Given the description of an element on the screen output the (x, y) to click on. 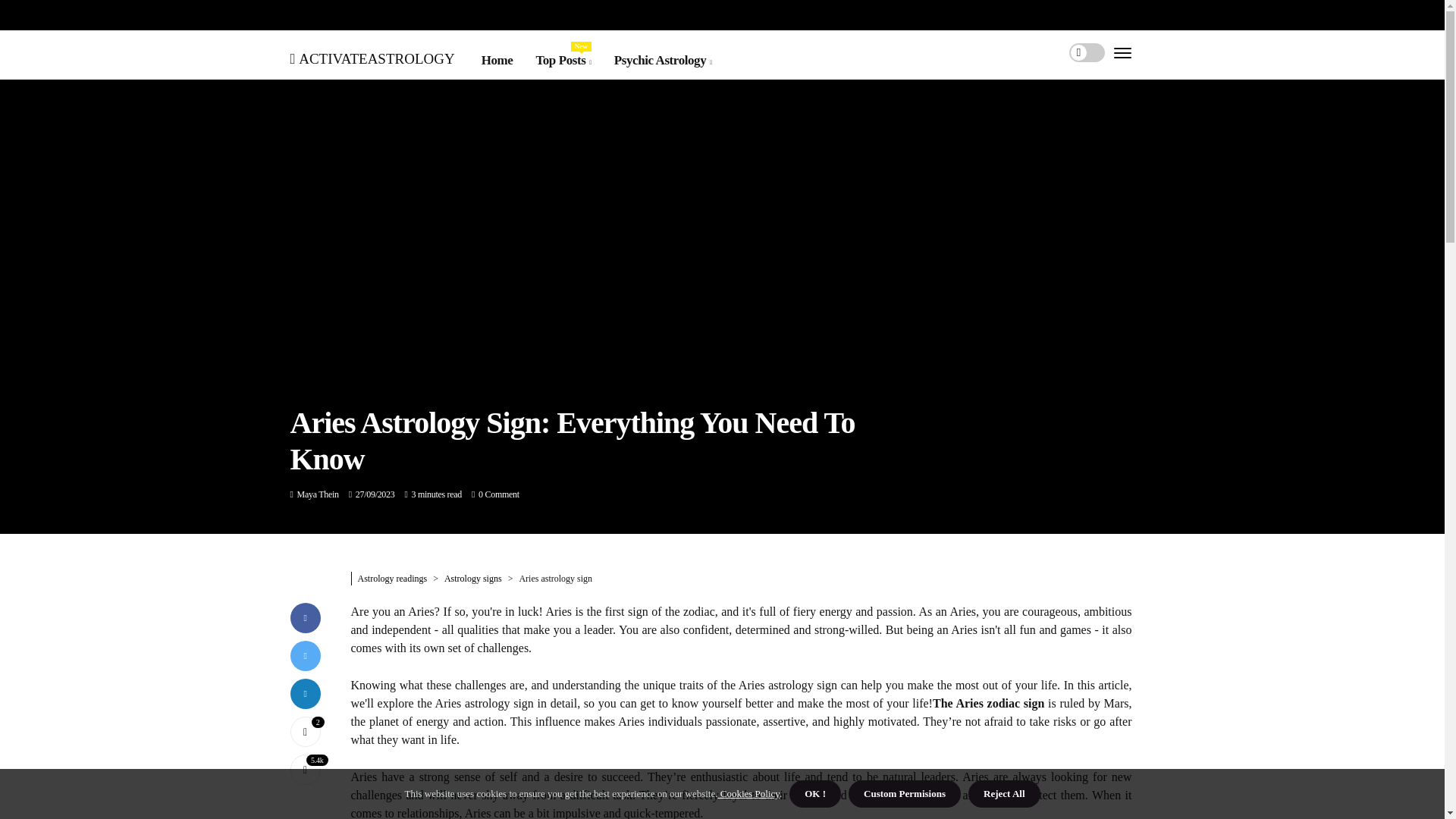
activateastrology (371, 56)
Psychic Astrology (662, 60)
Like (304, 730)
Posts by Maya Thein (318, 493)
